Given the description of an element on the screen output the (x, y) to click on. 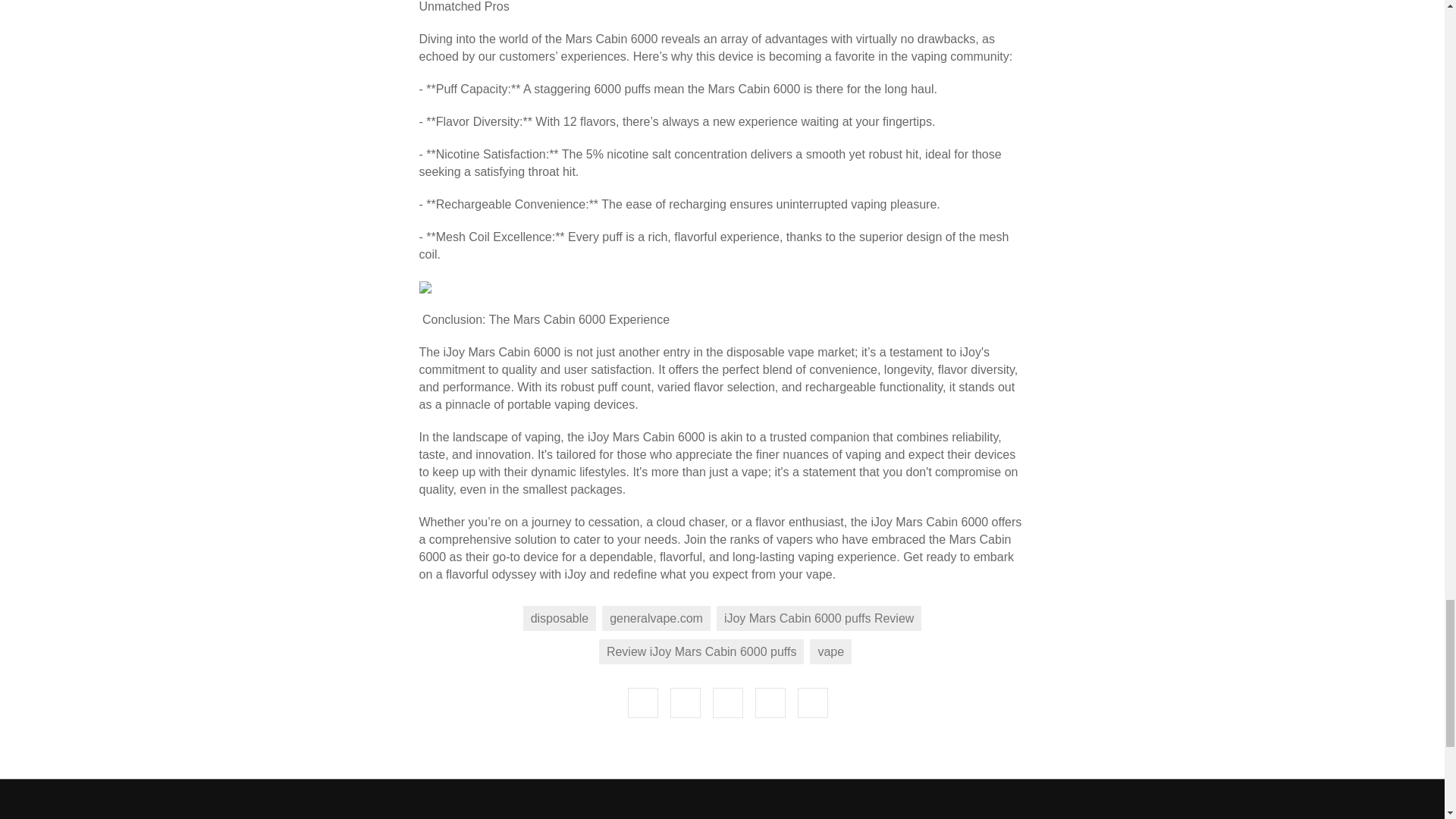
Pinterest (812, 368)
Twitter (770, 368)
Email (684, 368)
Subscribe (1146, 656)
Print (727, 368)
Facebook (642, 368)
